Given the description of an element on the screen output the (x, y) to click on. 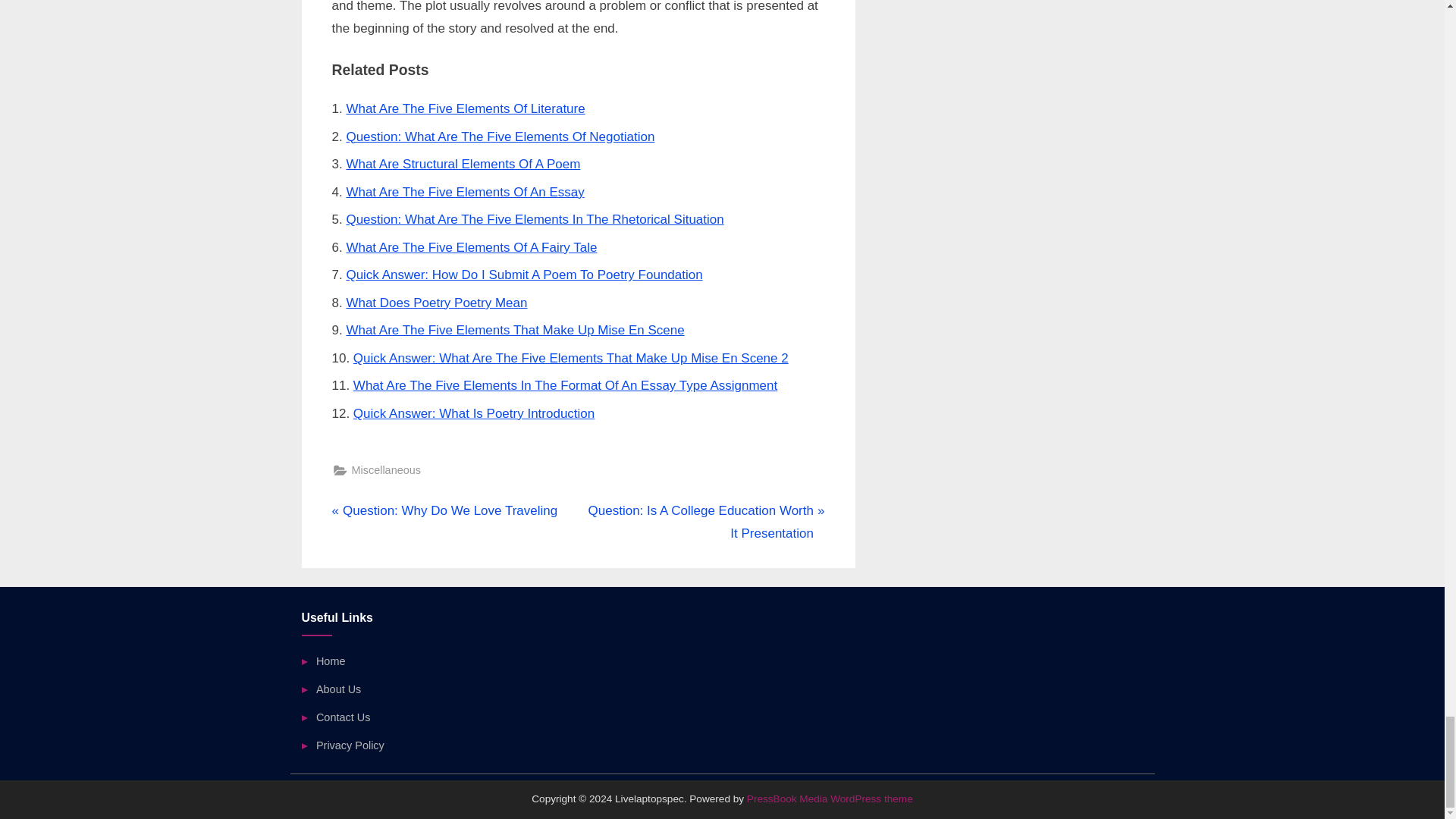
Miscellaneous (386, 470)
What Are The Five Elements Of A Fairy Tale (471, 247)
What Does Poetry Poetry Mean (436, 302)
What Are The Five Elements Of A Fairy Tale (471, 247)
Quick Answer: What Is Poetry Introduction (444, 510)
